Given the description of an element on the screen output the (x, y) to click on. 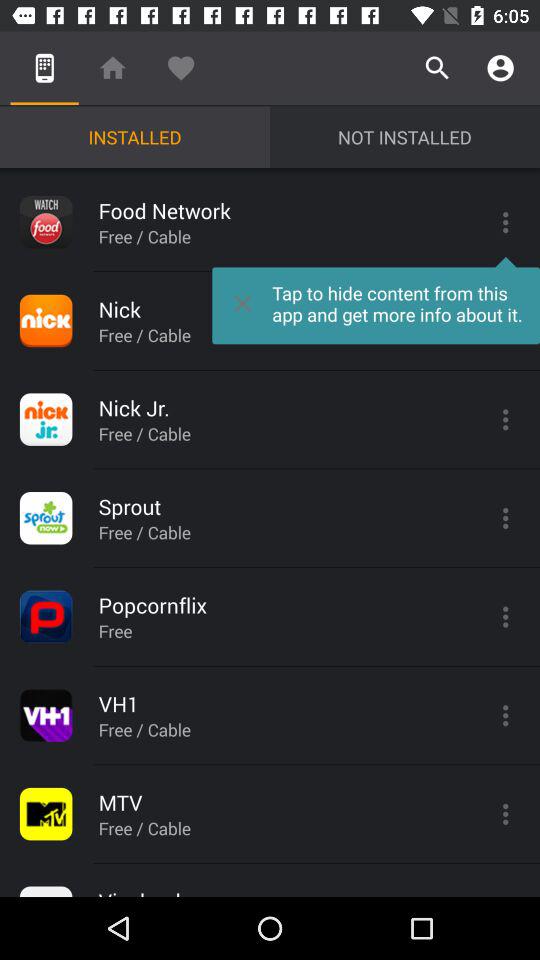
launch item above the not installed item (437, 67)
